Given the description of an element on the screen output the (x, y) to click on. 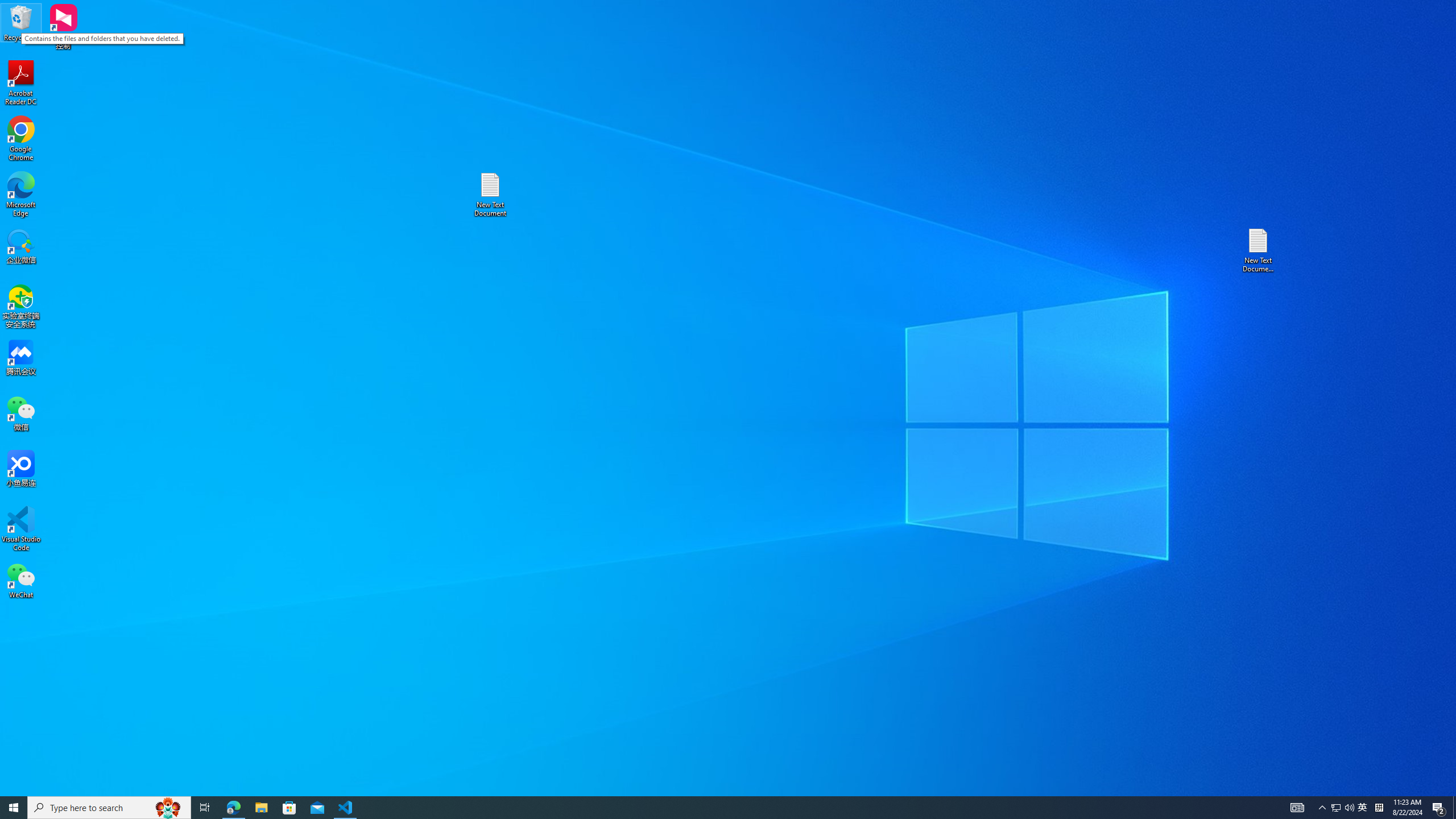
Running applications (707, 807)
New Text Document (489, 194)
Start (13, 807)
Search highlights icon opens search home window (167, 807)
Acrobat Reader DC (21, 82)
Show desktop (1454, 807)
Action Center, 2 new notifications (1439, 807)
WeChat (21, 580)
Recycle Bin (21, 22)
Type here to search (108, 807)
